Given the description of an element on the screen output the (x, y) to click on. 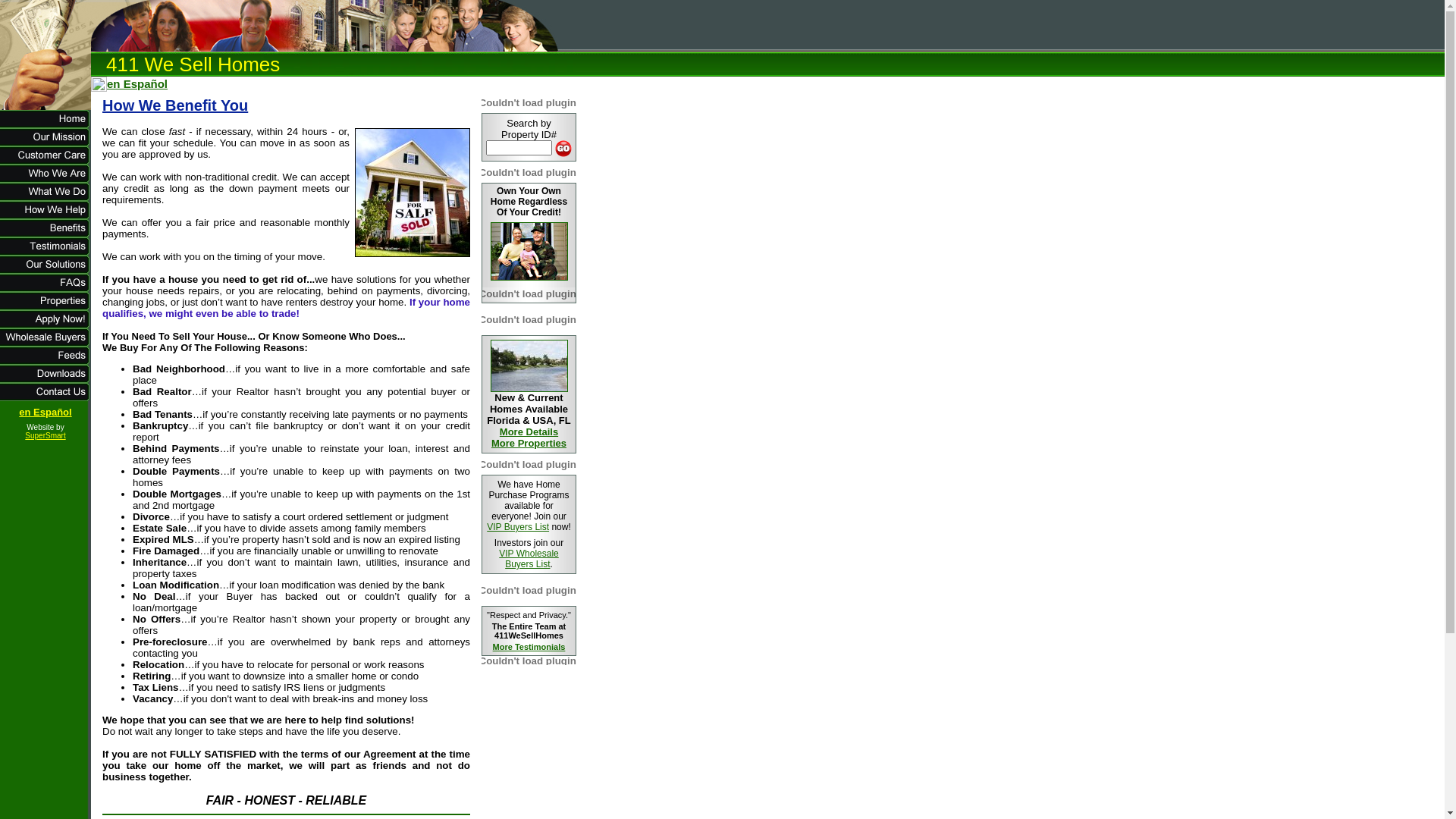
More Testimonials Element type: text (528, 646)
Resources & Downloads Element type: hover (45, 378)
More Details Element type: text (528, 431)
Frequently Asked Questions Element type: hover (45, 287)
Customer Care Policy Element type: hover (45, 159)
Our Mission Element type: hover (45, 141)
Benefits Element type: hover (45, 232)
Customer Testimonials Element type: hover (45, 250)
SuperSmart Element type: text (45, 435)
Properties Element type: hover (45, 305)
How We Help Element type: hover (45, 214)
VIP Buyers List Element type: text (517, 526)
How We Benefit You Element type: hover (409, 253)
Feeds Element type: hover (45, 360)
Apply To Own Your Own Home Now! Element type: hover (45, 323)
Wholesale Buyers Element type: hover (45, 341)
Who We Are Element type: hover (45, 178)
Our Solutions Element type: hover (45, 269)
More Properties Element type: text (528, 442)
What We Do Element type: hover (45, 196)
Contact Us Element type: hover (45, 396)
411 We Sell Homes Element type: hover (45, 87)
Home Element type: hover (45, 123)
VIP Wholesale
Buyers List Element type: text (528, 558)
